Given the description of an element on the screen output the (x, y) to click on. 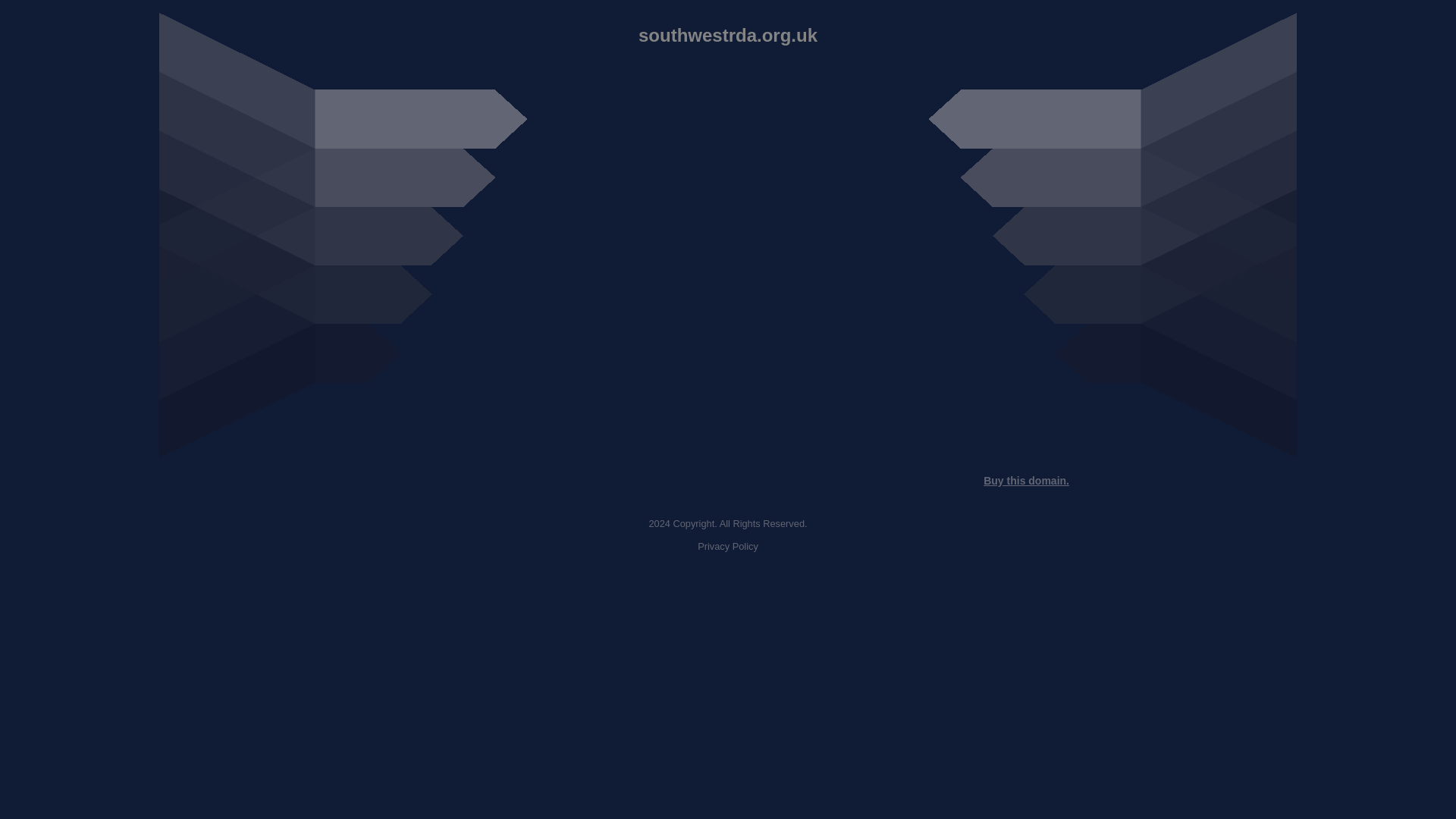
Privacy Policy (727, 546)
Buy this domain. (1026, 480)
